Given the description of an element on the screen output the (x, y) to click on. 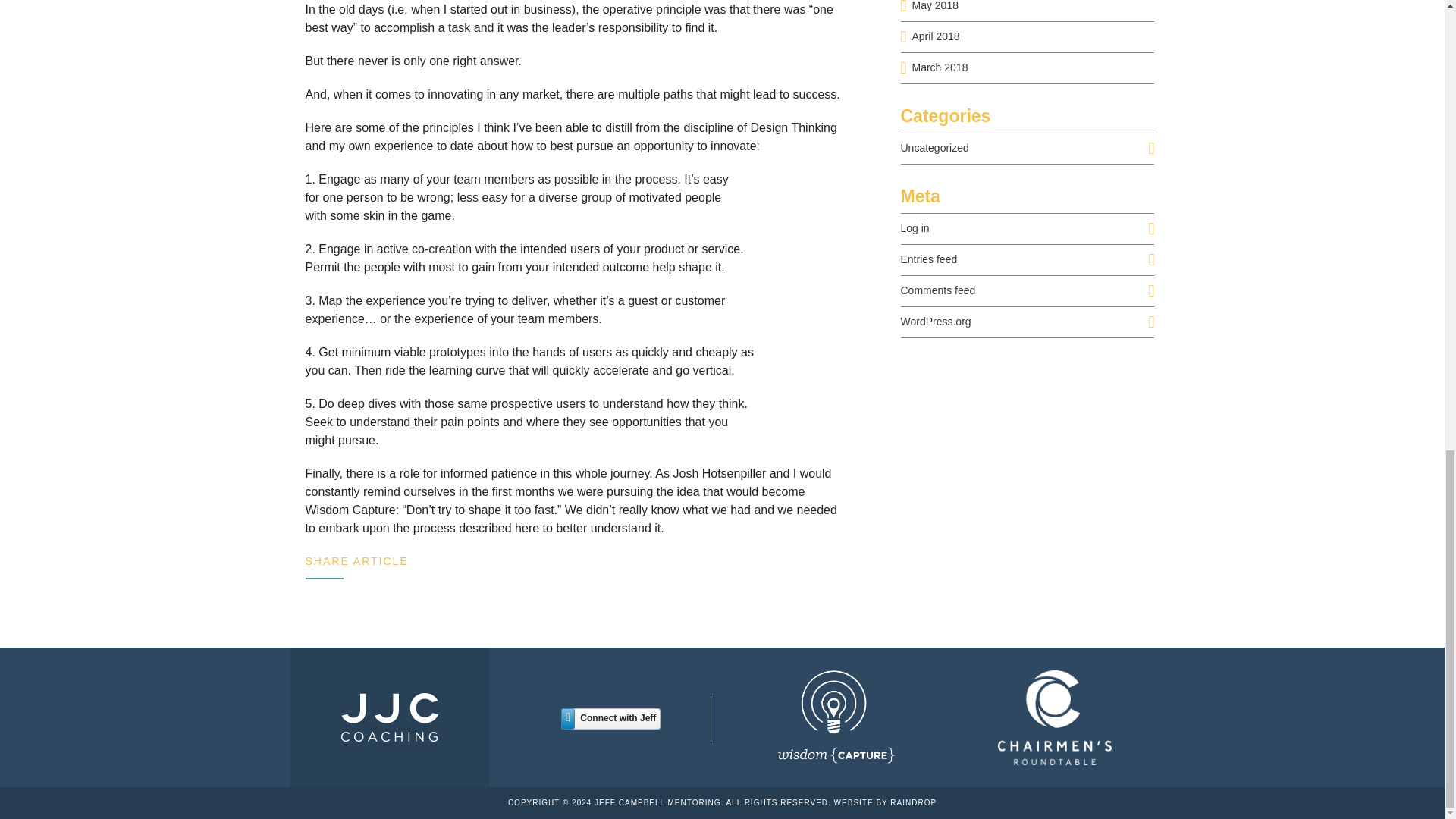
May 2018 (934, 5)
Uncategorized (935, 147)
Entries feed (929, 259)
Comments feed (938, 290)
Connect with Jeff (610, 718)
WordPress.org (936, 321)
Log in (915, 227)
SHARE ARTICLE (355, 561)
April 2018 (935, 36)
March 2018 (939, 67)
